Given the description of an element on the screen output the (x, y) to click on. 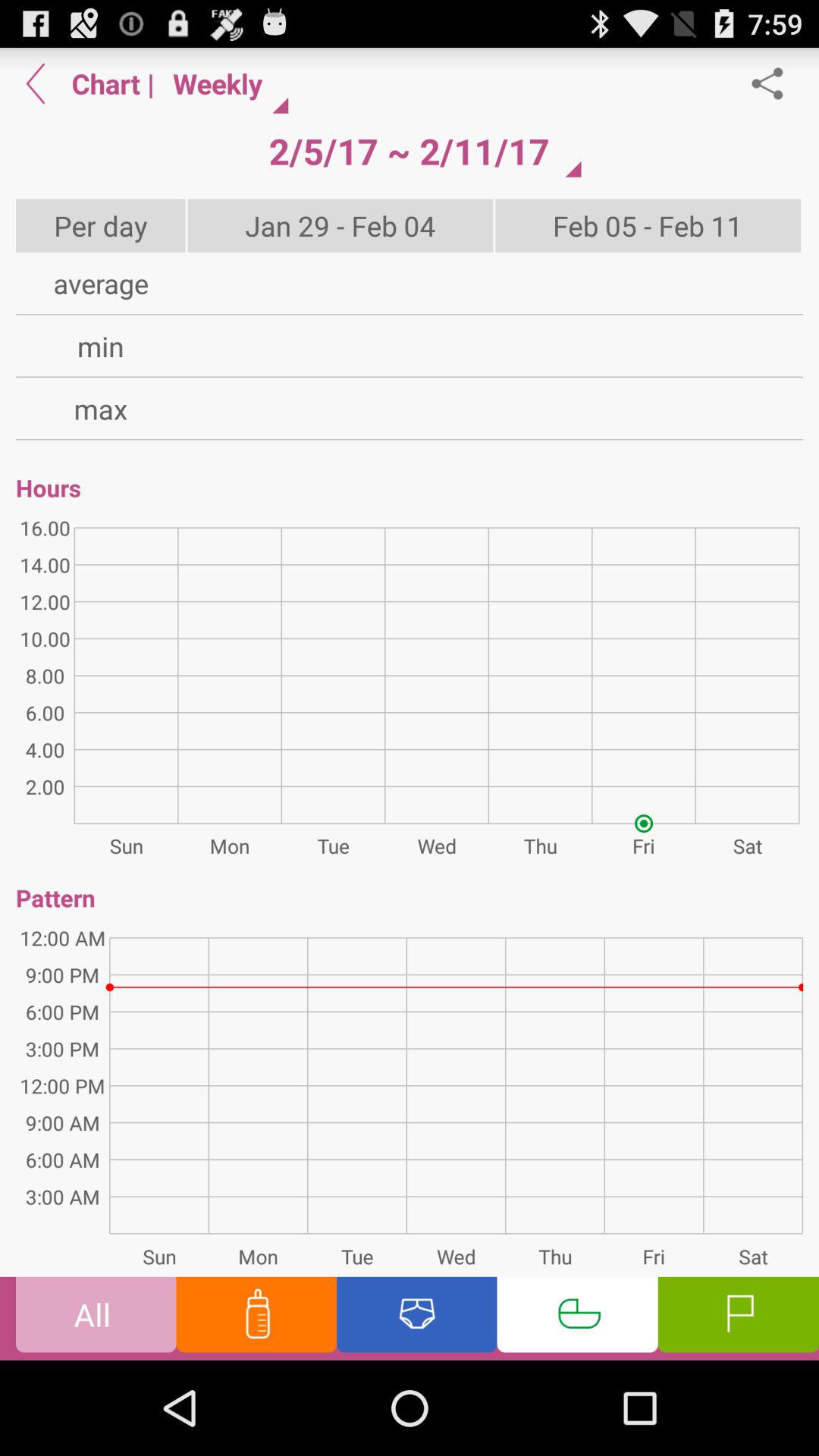
launch item above the per day icon (35, 83)
